Given the description of an element on the screen output the (x, y) to click on. 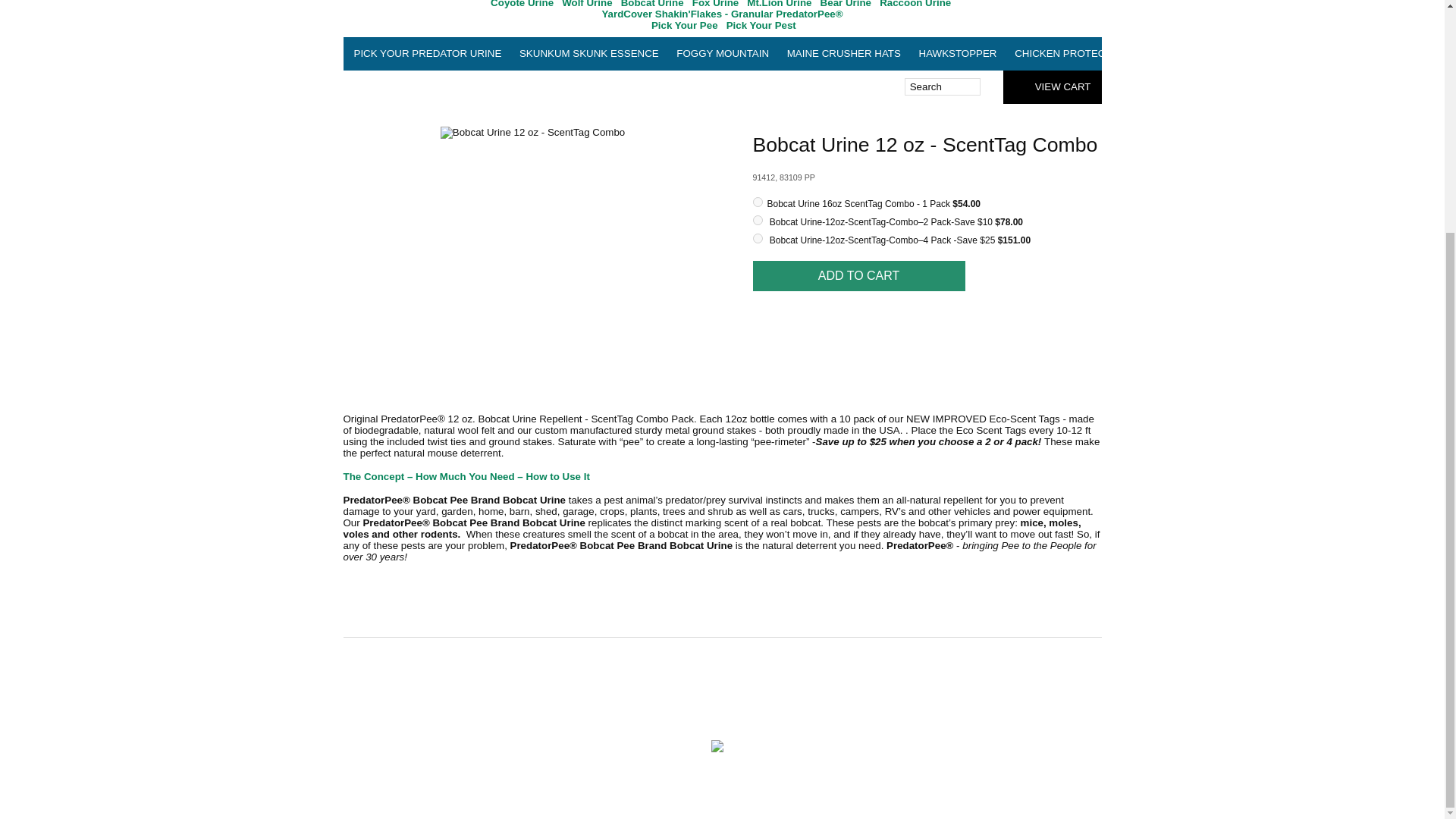
Stop Wire Chewing (1426, 53)
Wolf Urine (586, 4)
Add To Cart (857, 276)
MAINE CRUSHER HATS (843, 53)
Go (987, 87)
Mt.Lion Urine (778, 4)
COYOTE DETERRENT (1201, 53)
Pick Your Pee (683, 25)
HawkStopper (957, 53)
Foggy Mountain (722, 53)
